Given the description of an element on the screen output the (x, y) to click on. 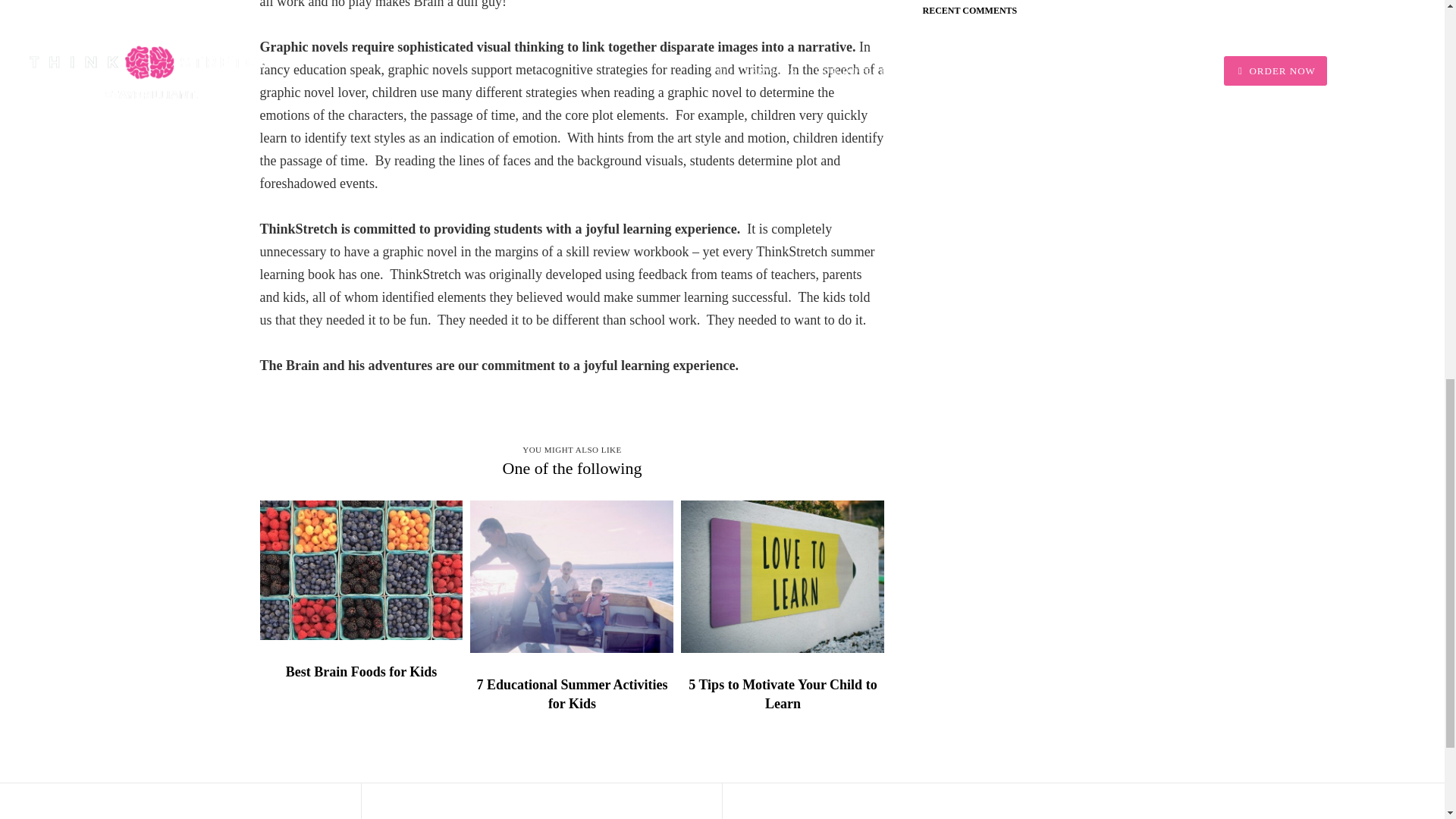
Why Is ThinkStretch a Summer Program, Not Just a Workbook? (541, 800)
Why are ThinkStretch Summer Workbooks Pressed Thin? (180, 800)
Best Brain Foods for Kids (361, 671)
Email (1002, 816)
5 Tips to Motivate Your Child to Learn (782, 694)
7 Educational Summer Activities for Kids (571, 694)
